Given the description of an element on the screen output the (x, y) to click on. 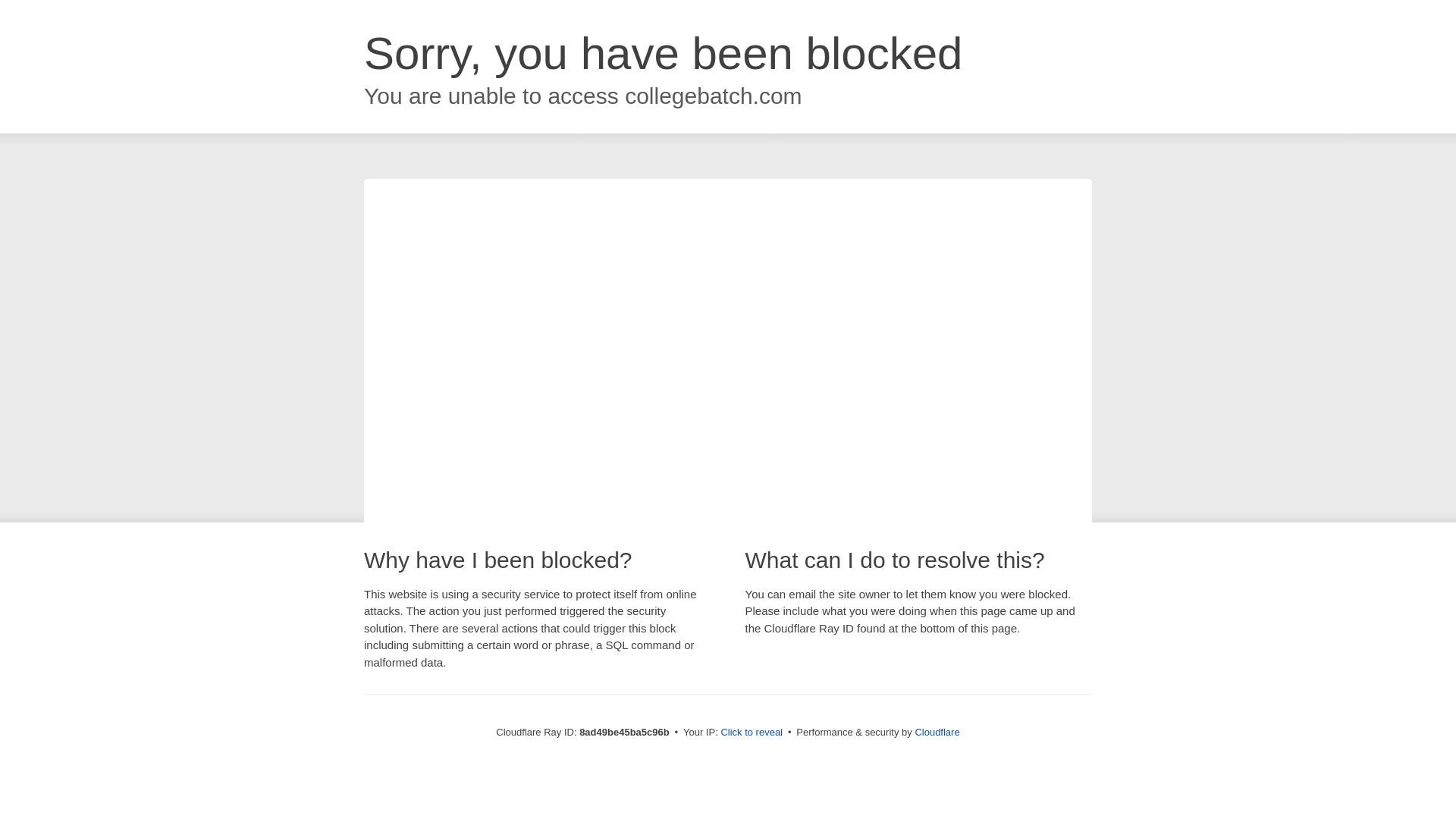
Click to reveal (751, 732)
Cloudflare (936, 731)
